Given the description of an element on the screen output the (x, y) to click on. 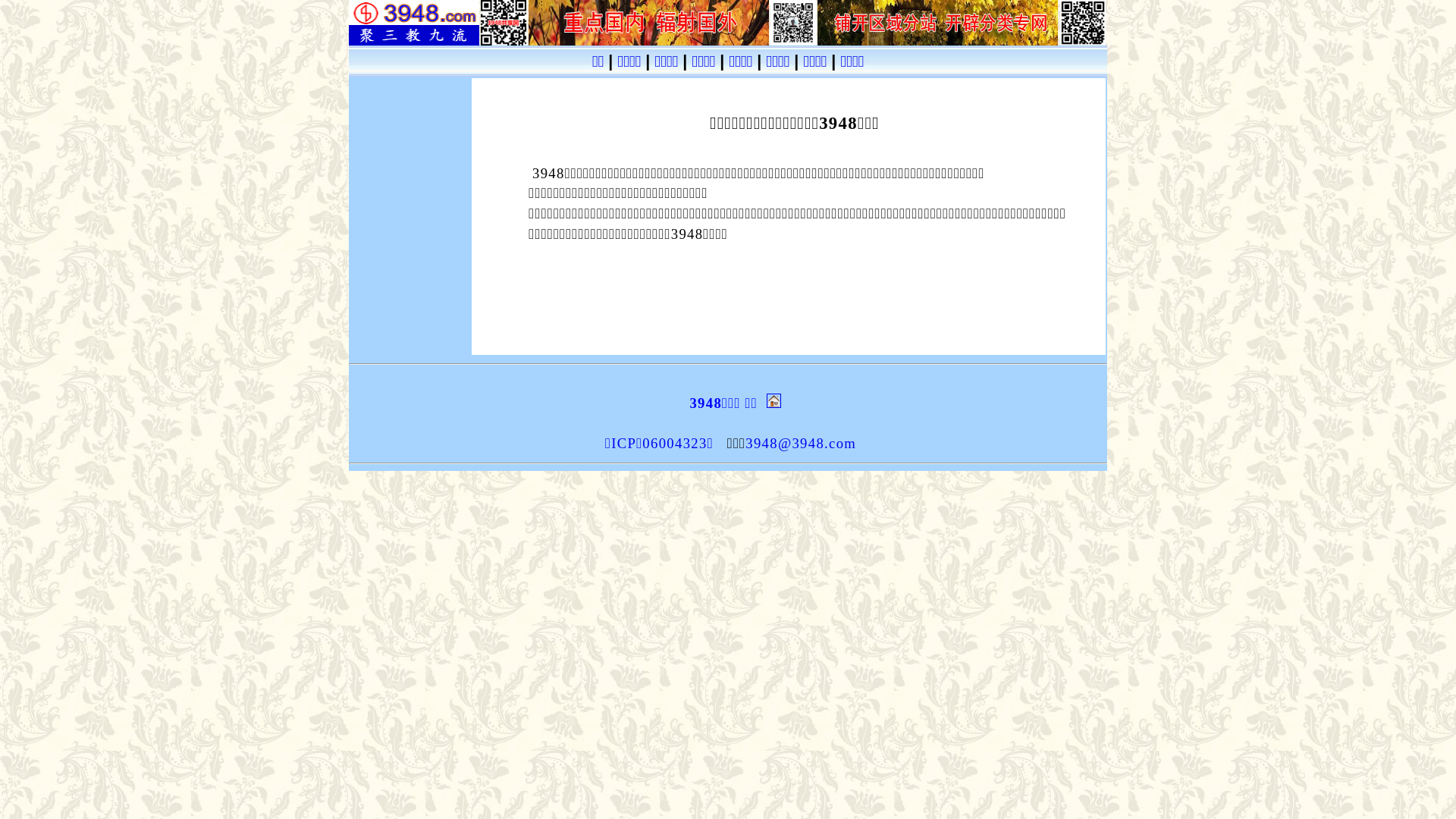
3948@3948.com Element type: text (800, 443)
